Given the description of an element on the screen output the (x, y) to click on. 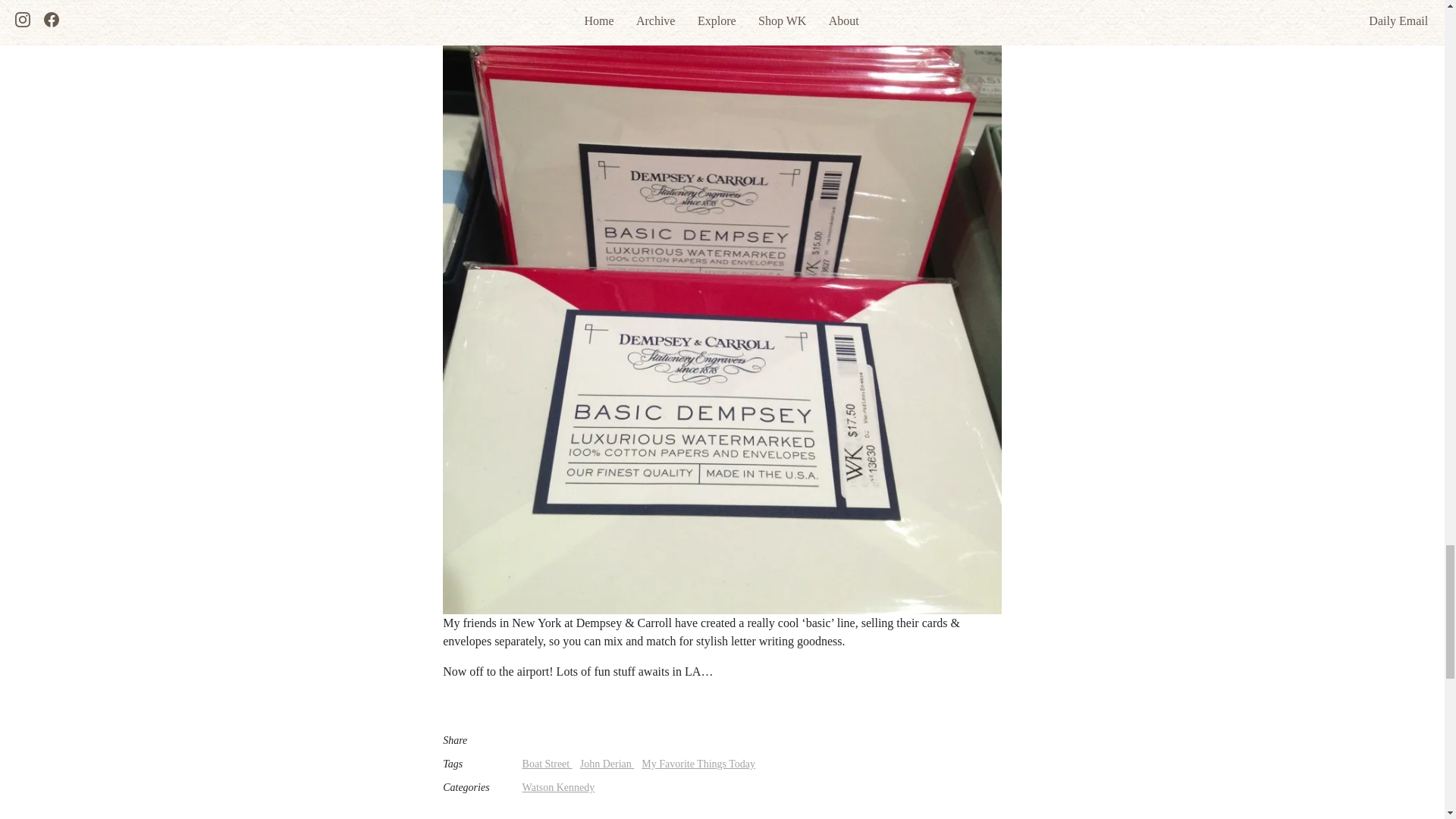
Boat Street (547, 763)
John Derian (606, 763)
My Favorite Things Today (698, 763)
Watson Kennedy (558, 787)
